Given the description of an element on the screen output the (x, y) to click on. 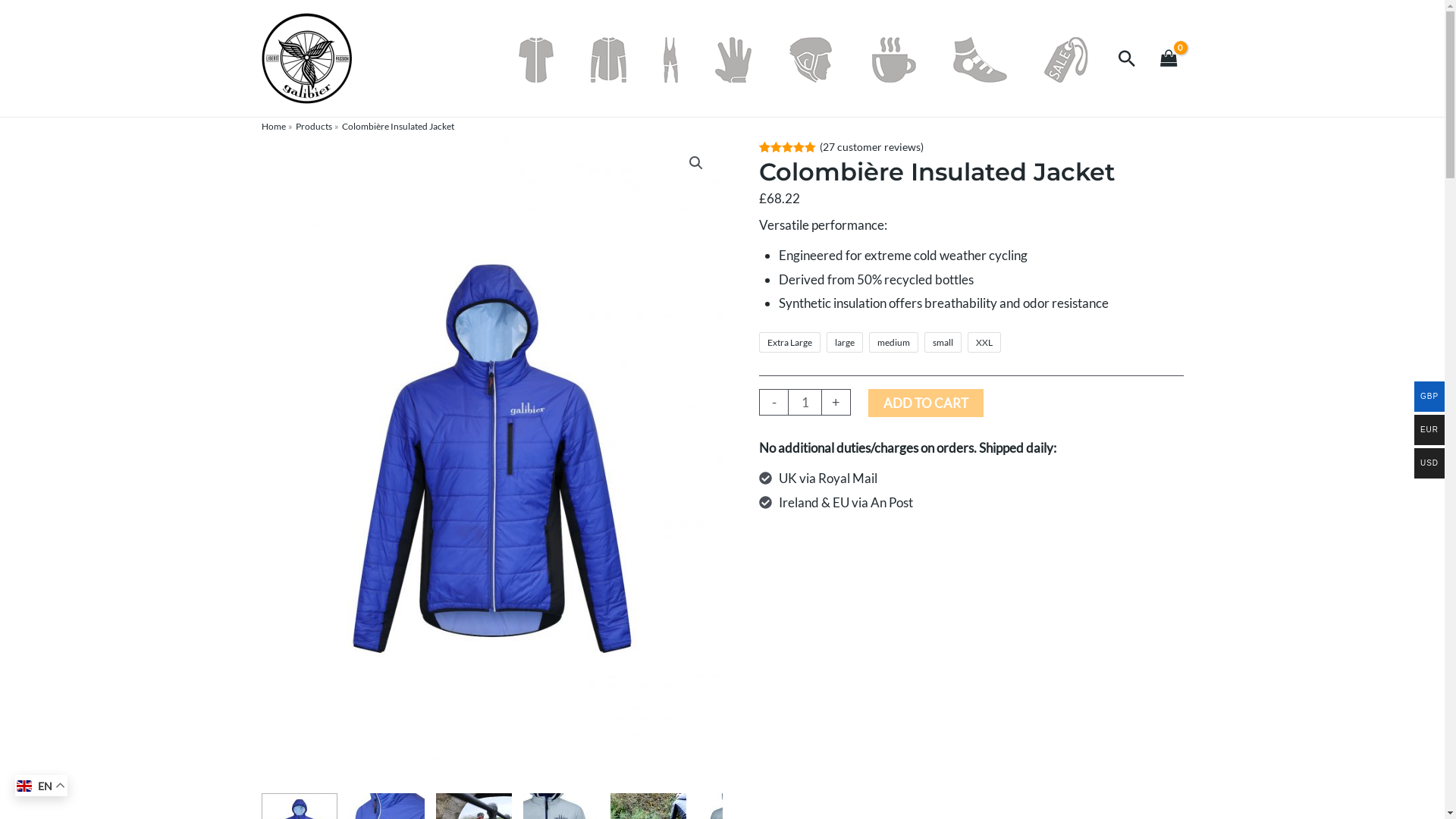
Products Element type: text (313, 125)
+ Element type: text (836, 402)
Nave galibier padded jacket Element type: hover (490, 458)
ADD TO CART Element type: text (925, 403)
Home Element type: text (272, 125)
- Element type: text (773, 402)
Search Element type: text (1126, 58)
(27 customer reviews) Element type: text (871, 146)
